Given the description of an element on the screen output the (x, y) to click on. 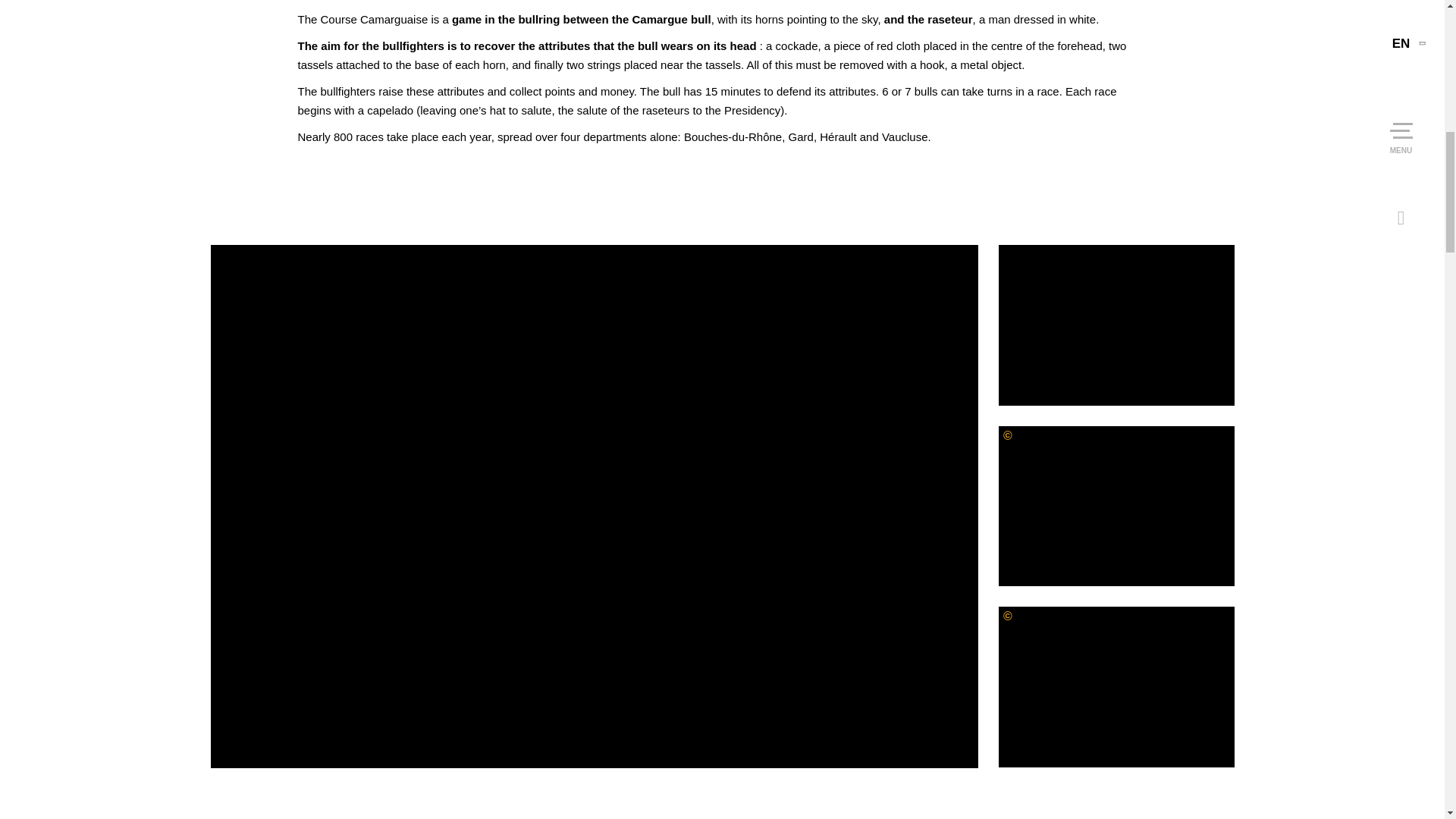
OTI Alpilles en Provence (1116, 506)
OTI Alpilles en Provence (1116, 686)
